Given the description of an element on the screen output the (x, y) to click on. 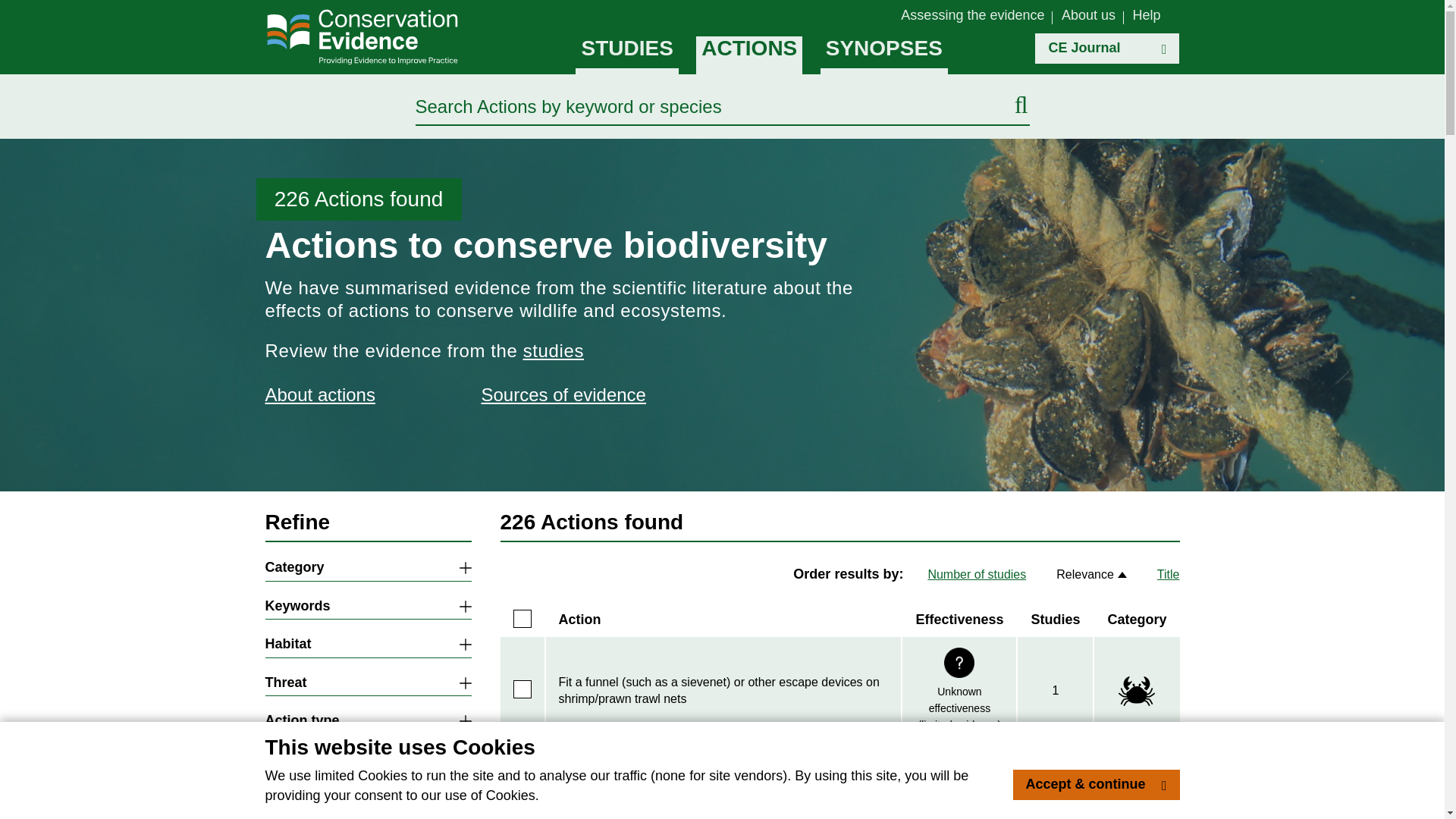
Sources of evidence (563, 395)
Refresh results (367, 804)
Number of studies (976, 574)
STUDIES (626, 55)
Relevance (1091, 574)
Title (1168, 574)
ACTIONS (748, 55)
SYNOPSES (884, 55)
studies (552, 350)
About us (1088, 14)
About actions (348, 395)
CE Journal (1107, 48)
Assessing the evidence (972, 14)
Help (1146, 14)
